Given the description of an element on the screen output the (x, y) to click on. 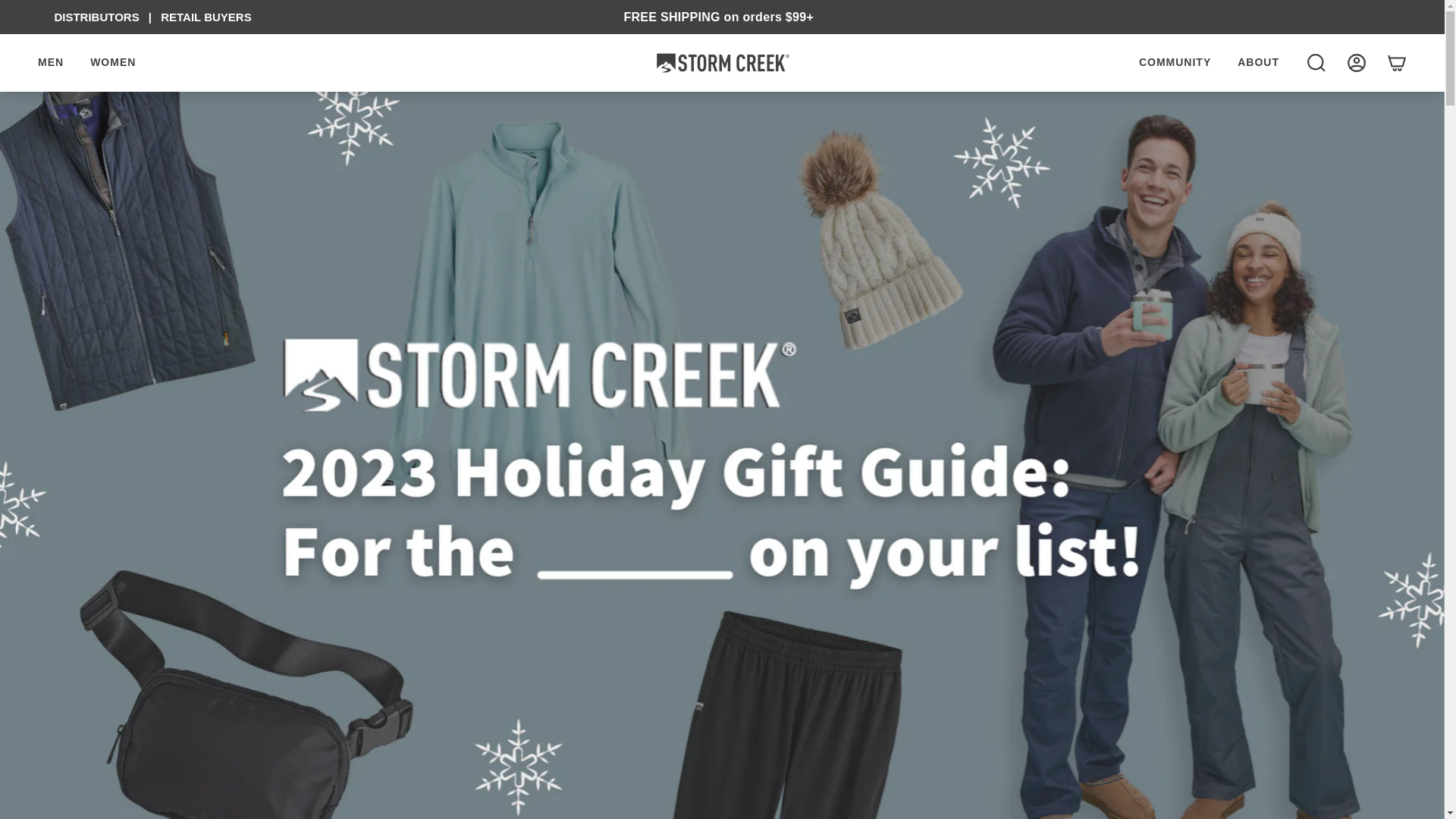
WOMEN (112, 62)
Search (1316, 62)
My Account (1356, 62)
RETAIL BUYERS (205, 16)
Cart (1396, 62)
MEN (50, 62)
DISTRIBUTORS (95, 16)
